Given the description of an element on the screen output the (x, y) to click on. 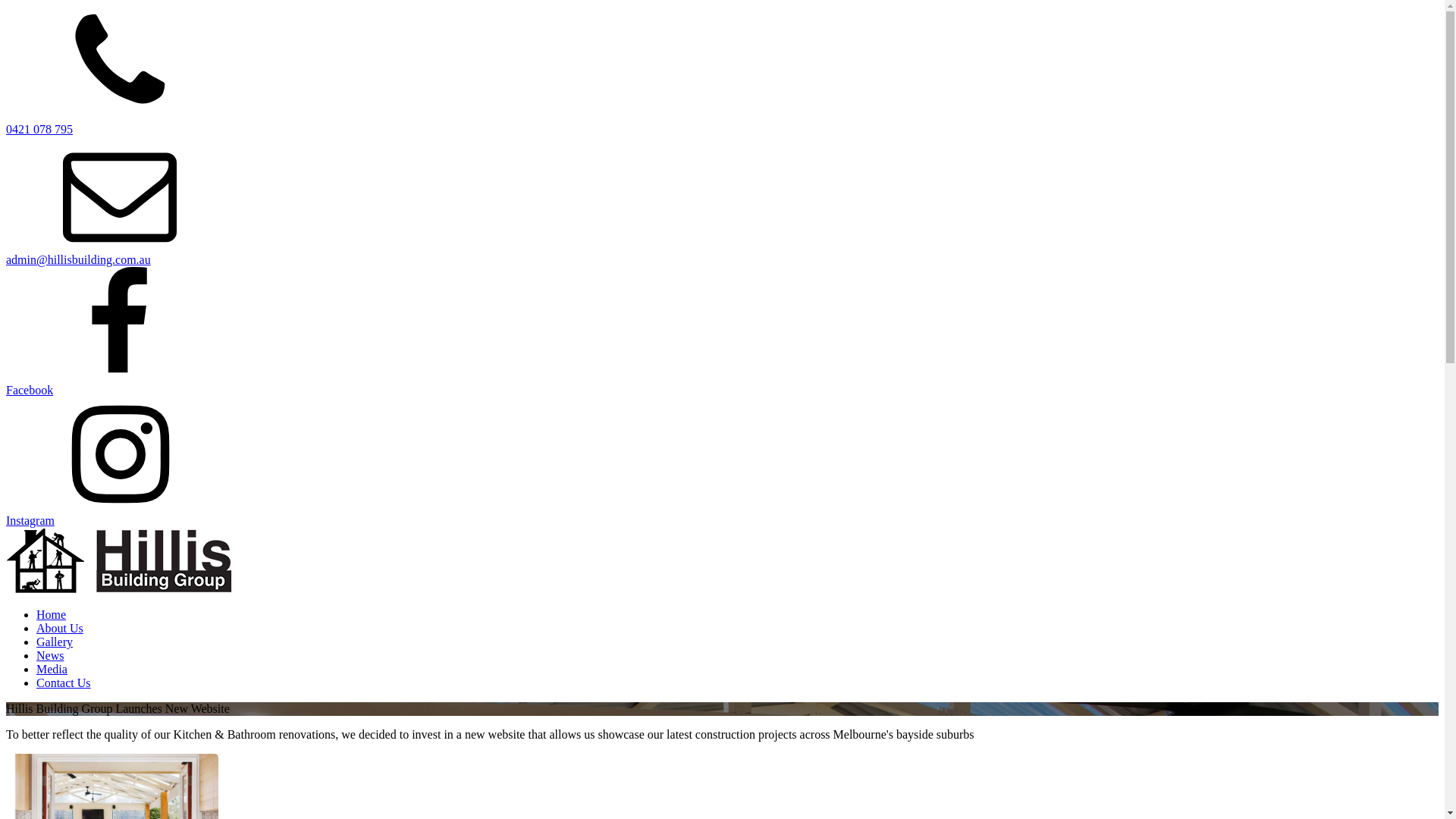
News Element type: text (49, 655)
Home Element type: text (50, 614)
0421 078 795 Element type: text (39, 128)
Facebook Element type: text (29, 389)
Media Element type: text (51, 668)
Contact Us Element type: text (63, 682)
admin@hillisbuilding.com.au Element type: text (78, 259)
Gallery Element type: text (54, 641)
Instagram Element type: text (30, 520)
About Us Element type: text (59, 627)
